Given the description of an element on the screen output the (x, y) to click on. 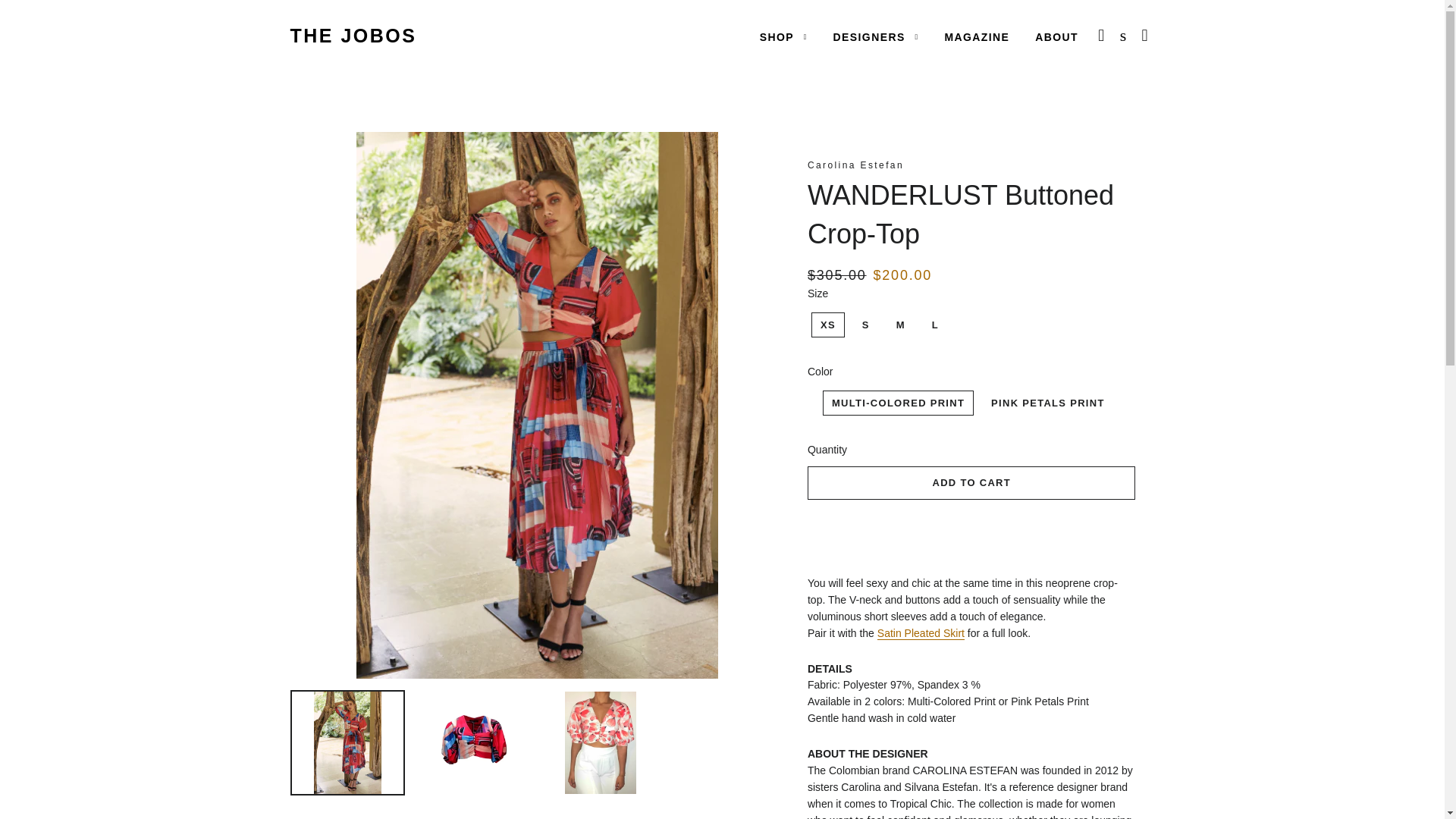
Satin Pleated Skirt (920, 633)
